Given the description of an element on the screen output the (x, y) to click on. 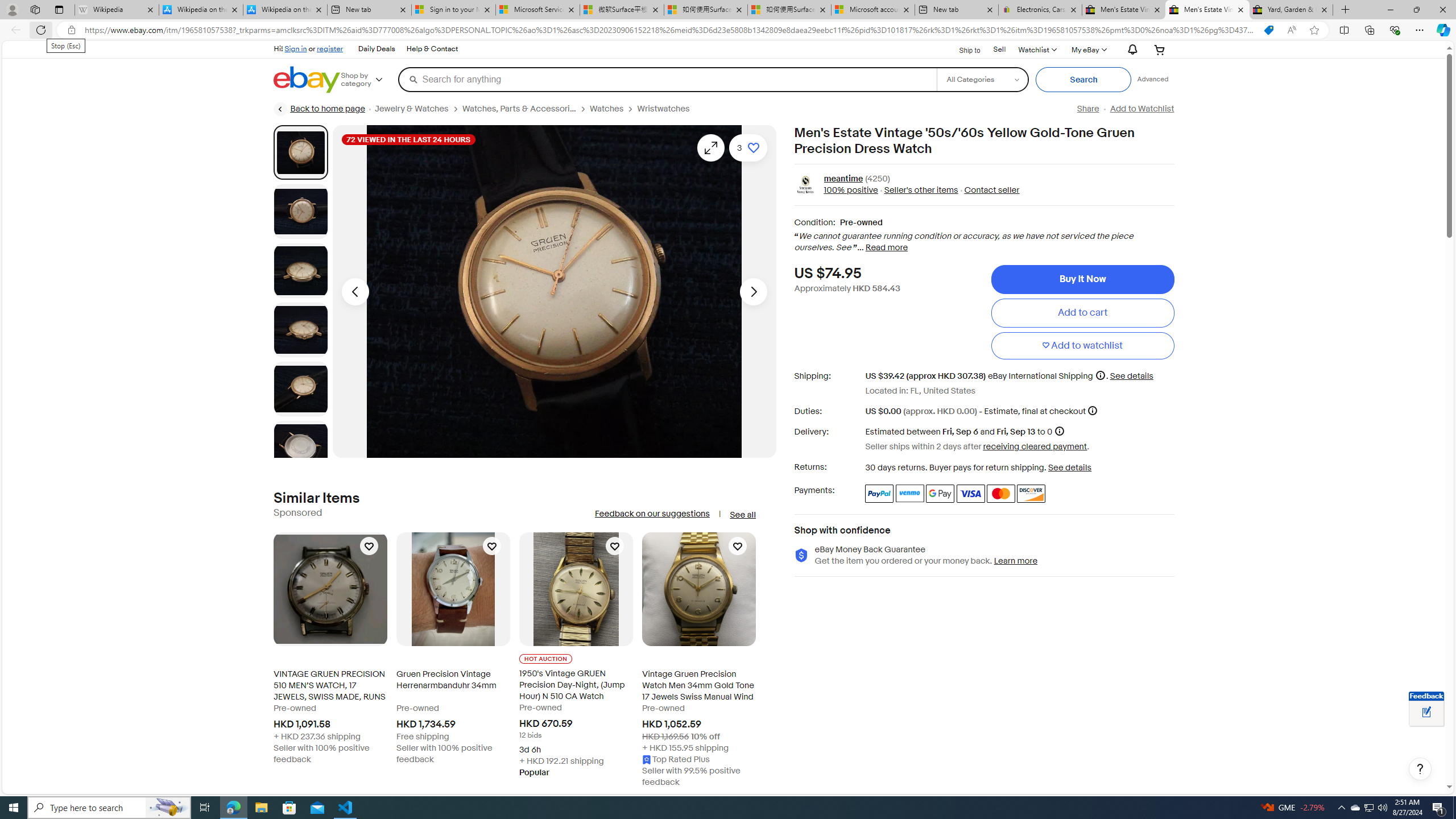
Ship to (962, 48)
Sell (999, 49)
100% positive (850, 190)
Previous image - Item images thumbnails (354, 291)
Class: ux-action (804, 184)
Picture 1 of 8 (300, 152)
Picture 4 of 8 (300, 329)
This site has coupons! Shopping in Microsoft Edge (1268, 29)
Add to watchlist - 3 watchers (747, 147)
Jewelry & Watches (411, 108)
Picture 4 of 8 (300, 329)
Contact seller (991, 190)
